Given the description of an element on the screen output the (x, y) to click on. 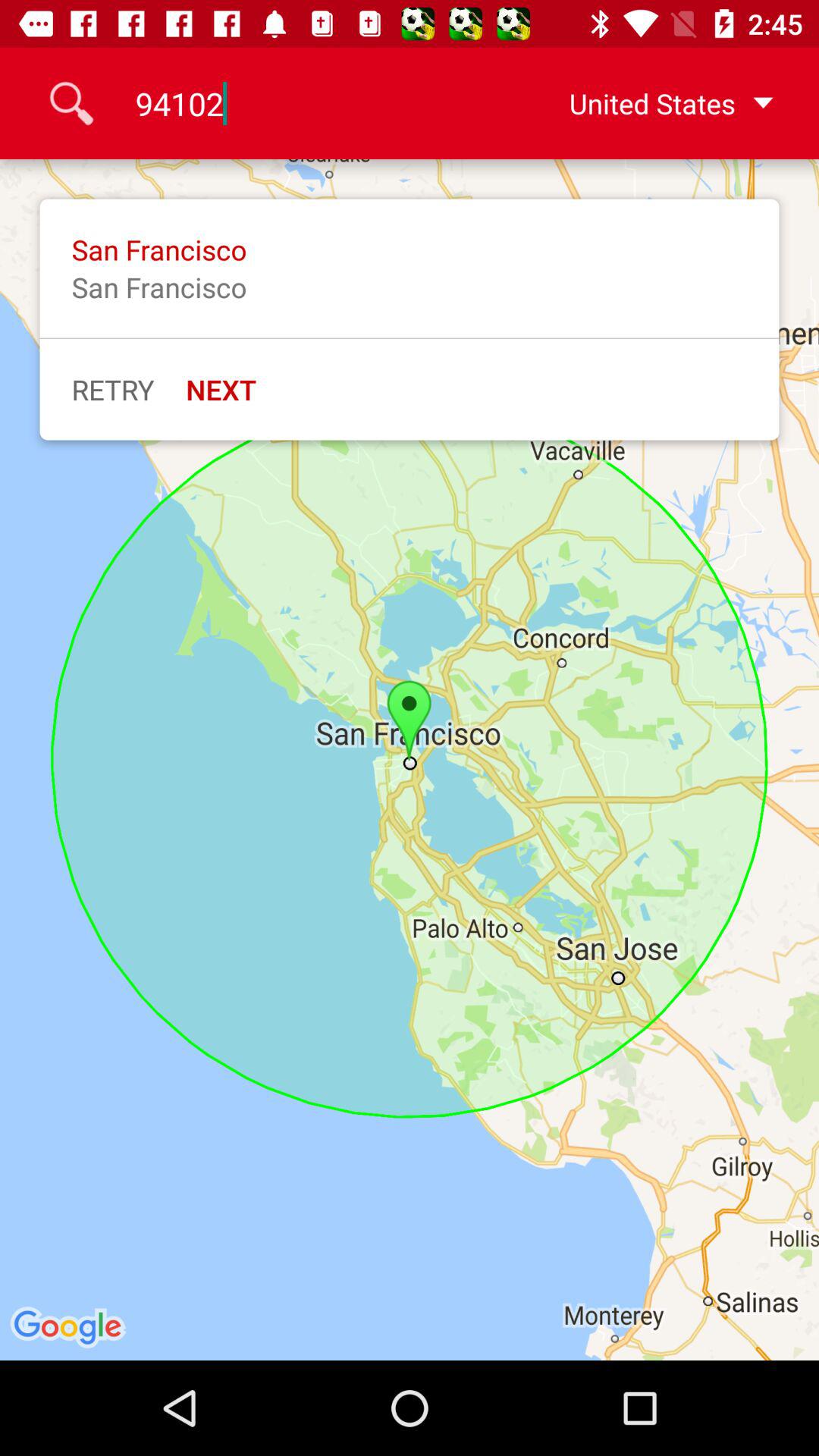
select the item next to the retry item (220, 389)
